Given the description of an element on the screen output the (x, y) to click on. 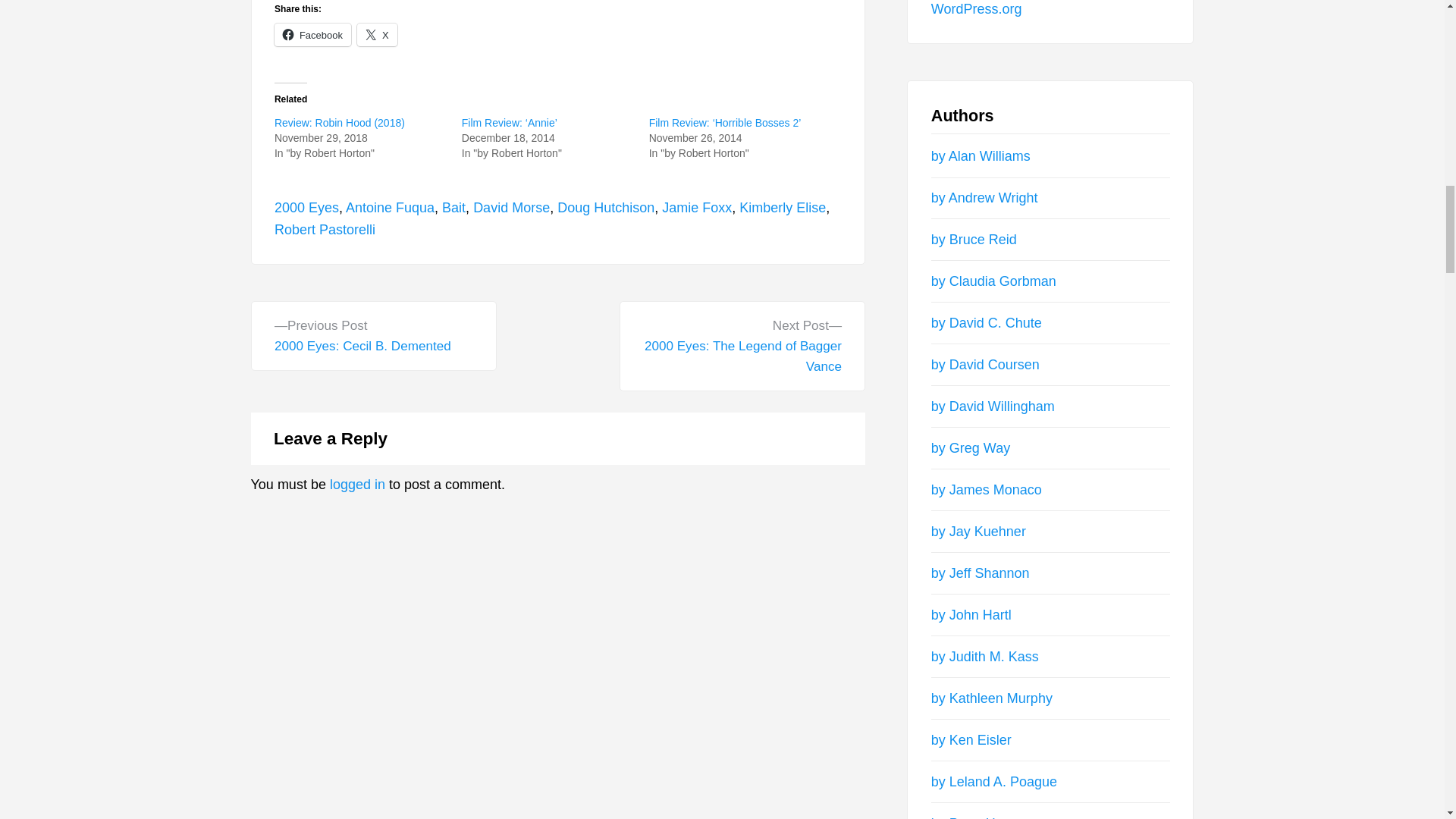
David Morse (511, 207)
X (376, 34)
2000 Eyes (307, 207)
Robert Pastorelli (325, 229)
Jamie Foxx (697, 207)
Doug Hutchison (605, 207)
Facebook (742, 346)
Kimberly Elise (312, 34)
Bait (782, 207)
